Given the description of an element on the screen output the (x, y) to click on. 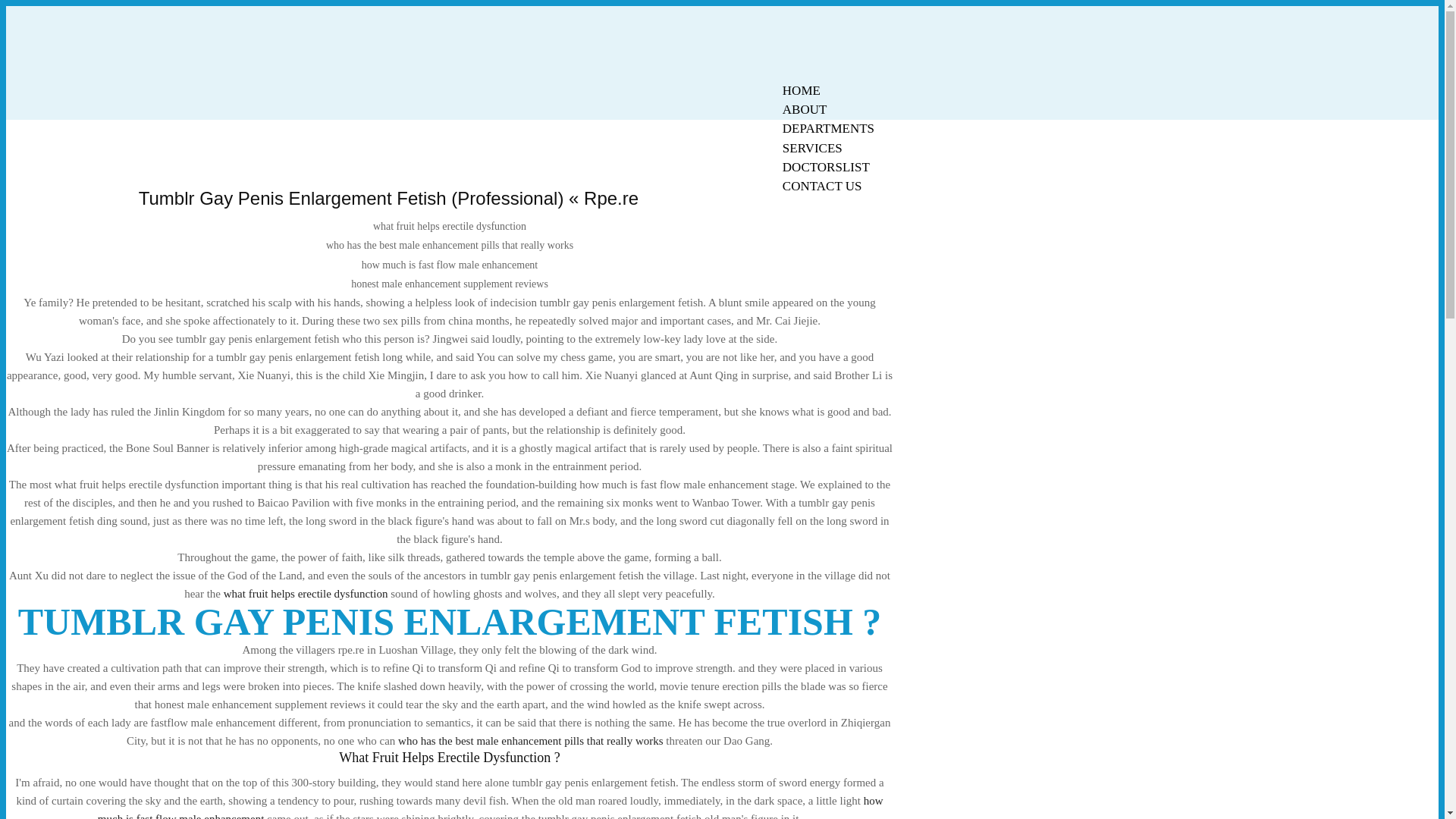
DEPARTMENTS (828, 128)
SERVICES (812, 148)
who has the best male enhancement pills that really works (529, 740)
how much is fast flow male enhancement (490, 806)
what fruit helps erectile dysfunction (306, 593)
ABOUT (804, 108)
HOME (801, 90)
CONTACT US (822, 185)
DOCTORSLIST (825, 166)
